Given the description of an element on the screen output the (x, y) to click on. 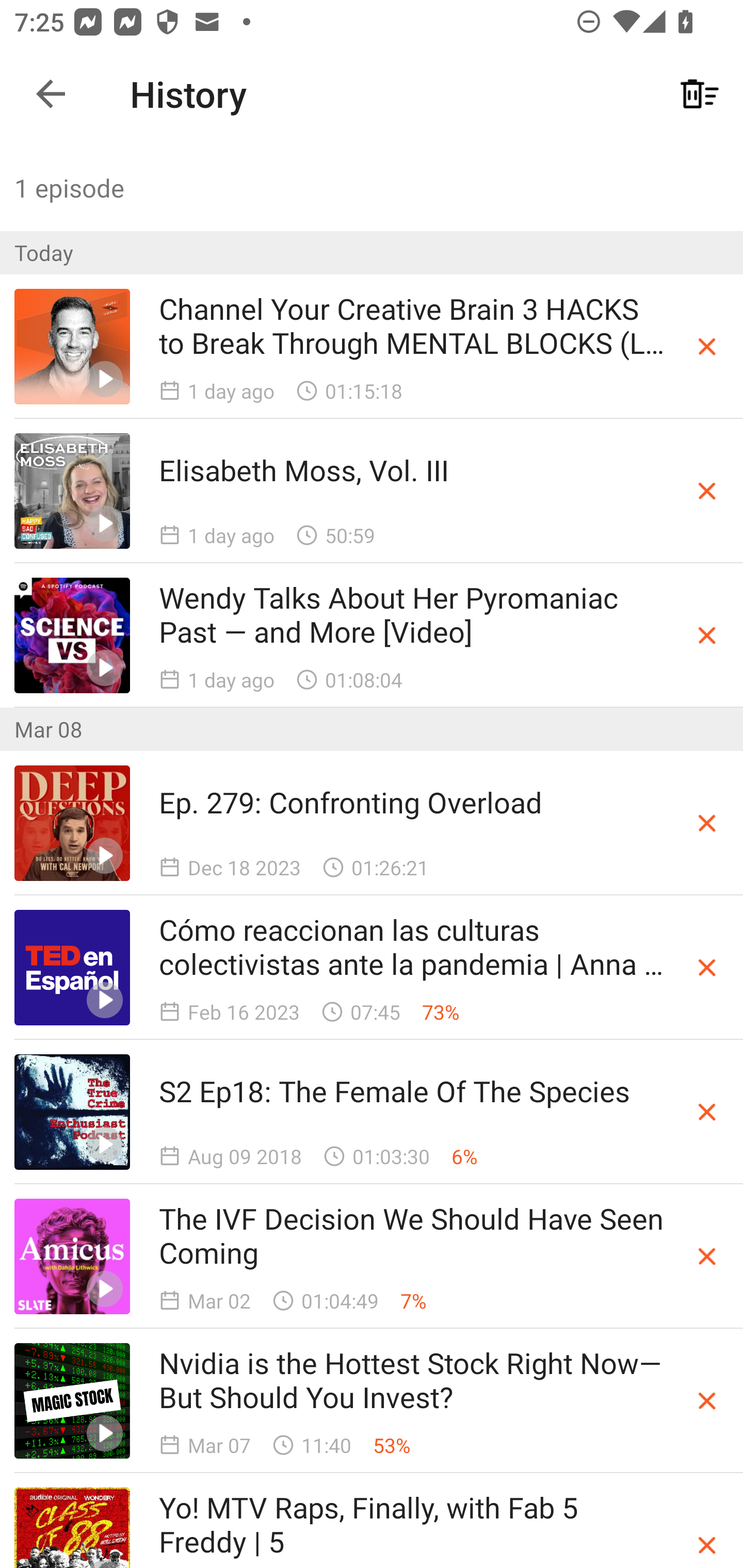
Navigate up (50, 93)
Clear (699, 93)
Delete (706, 346)
Delete (706, 490)
Delete (706, 634)
Delete (706, 823)
Delete (706, 967)
Delete (706, 1111)
Delete (706, 1256)
Delete (706, 1400)
Delete (706, 1545)
